Given the description of an element on the screen output the (x, y) to click on. 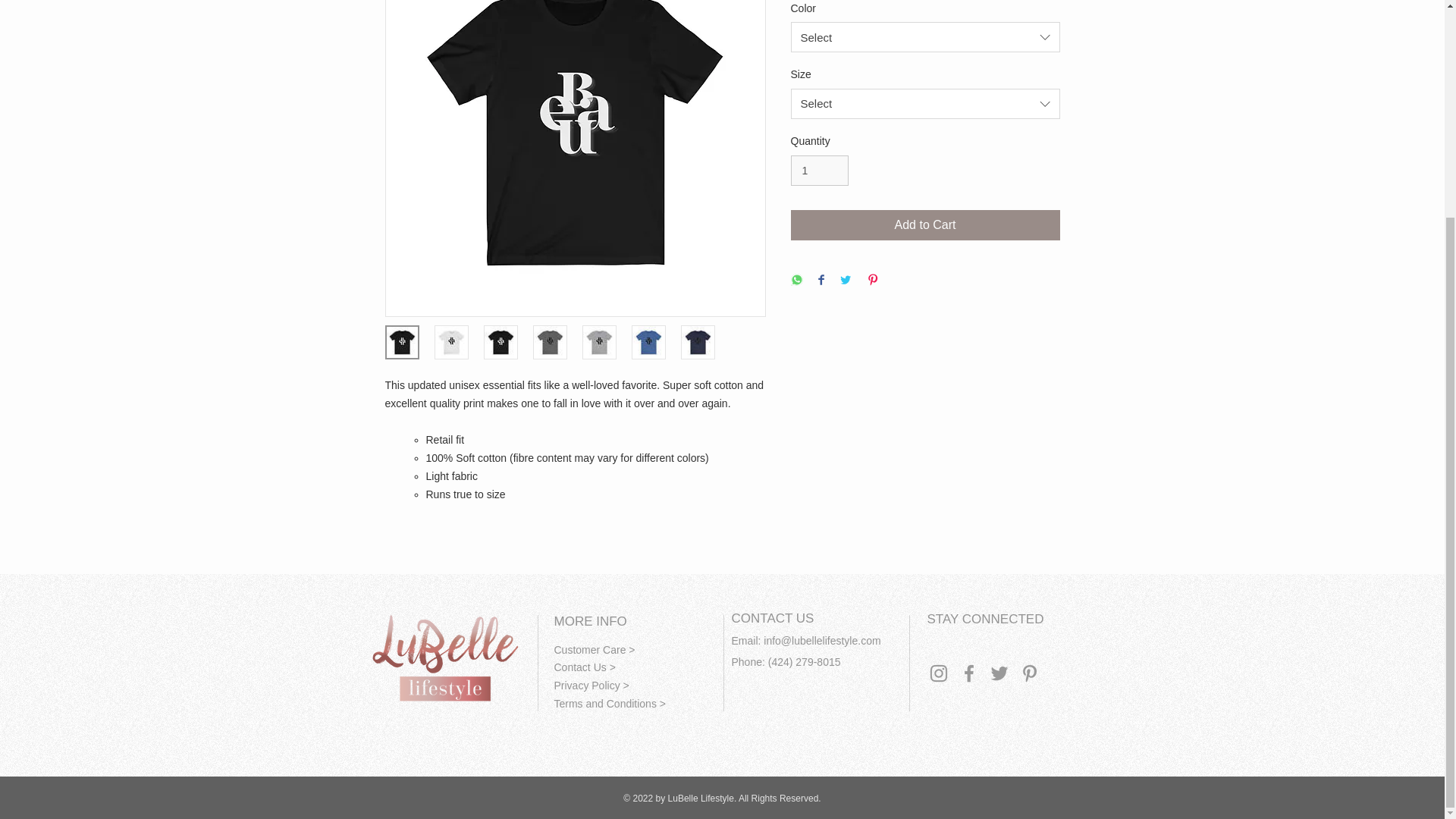
Select (924, 37)
Select (924, 103)
Add to Cart (924, 224)
1 (818, 170)
